Given the description of an element on the screen output the (x, y) to click on. 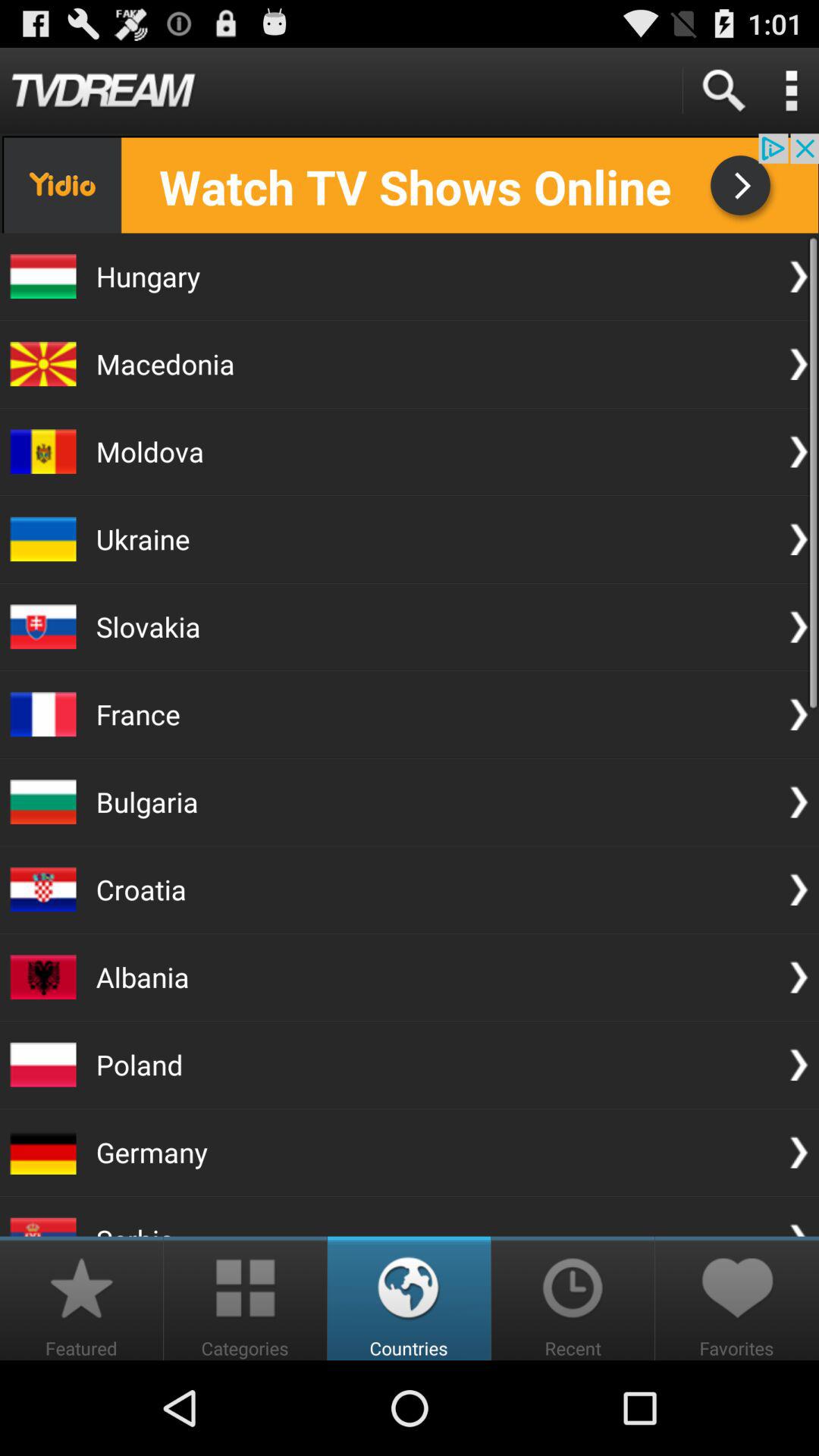
go to setting (791, 90)
